Given the description of an element on the screen output the (x, y) to click on. 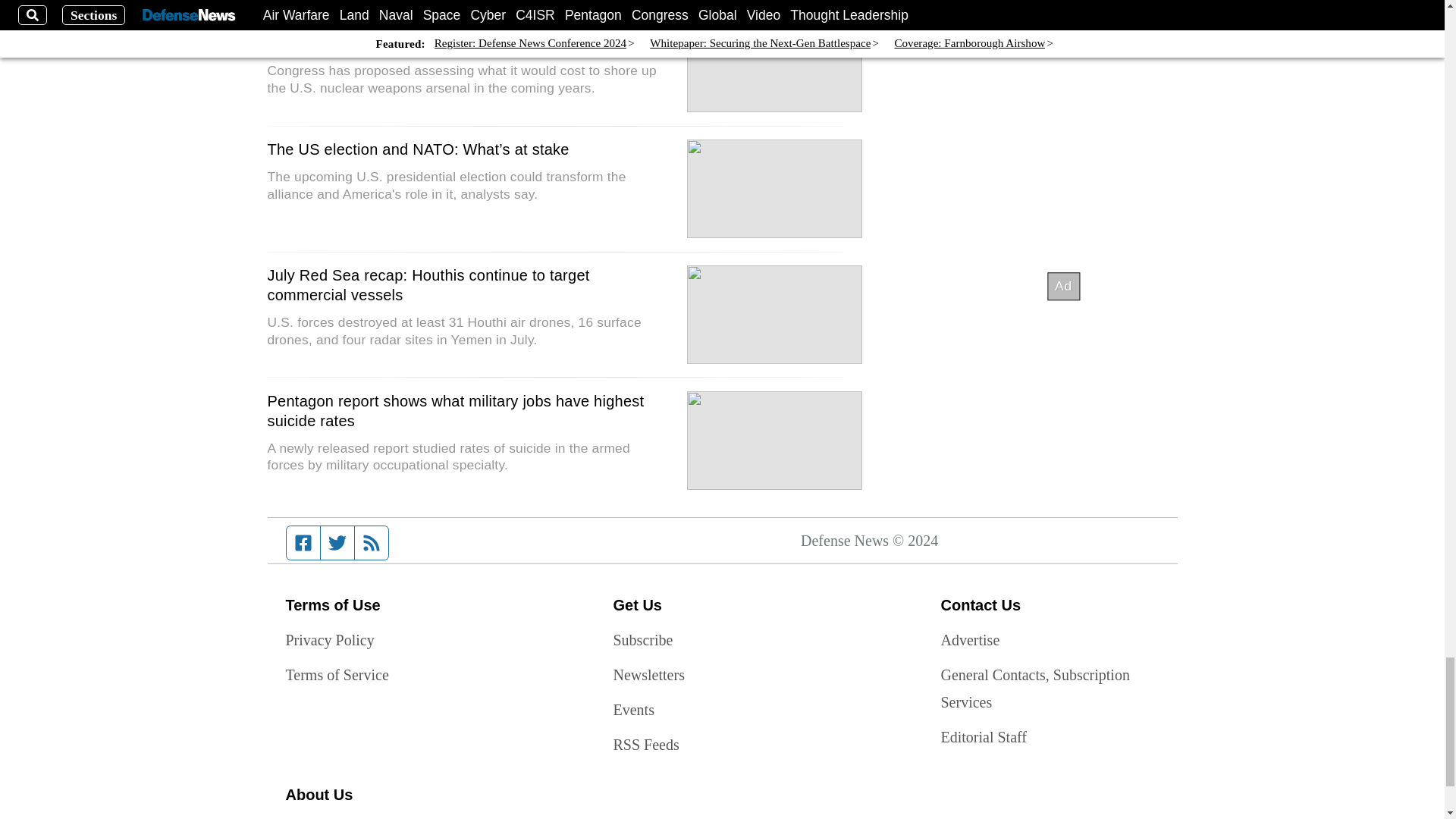
RSS feed (371, 542)
Twitter feed (336, 542)
Facebook page (303, 542)
